Given the description of an element on the screen output the (x, y) to click on. 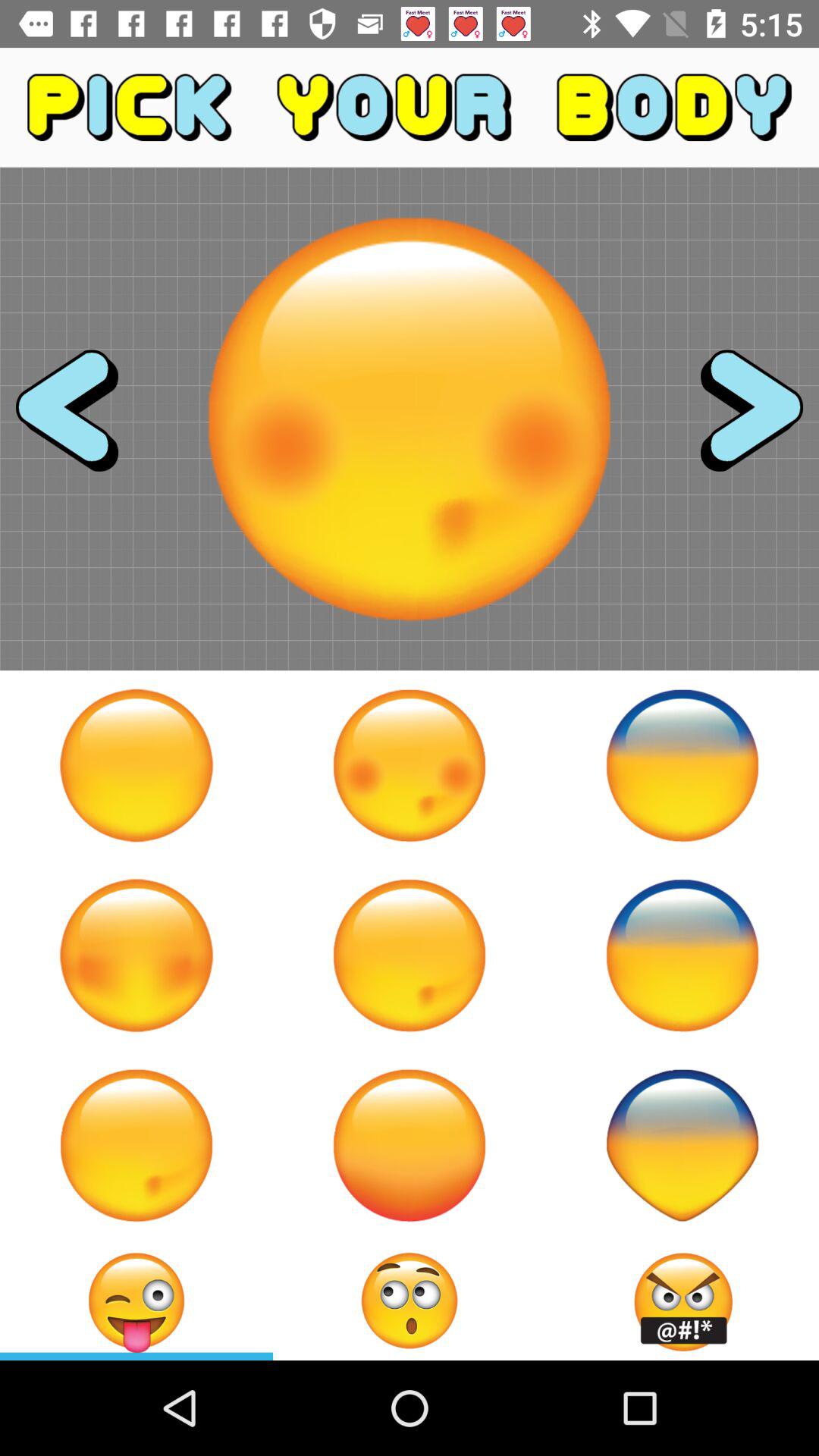
toggle expression menu (409, 1300)
